Given the description of an element on the screen output the (x, y) to click on. 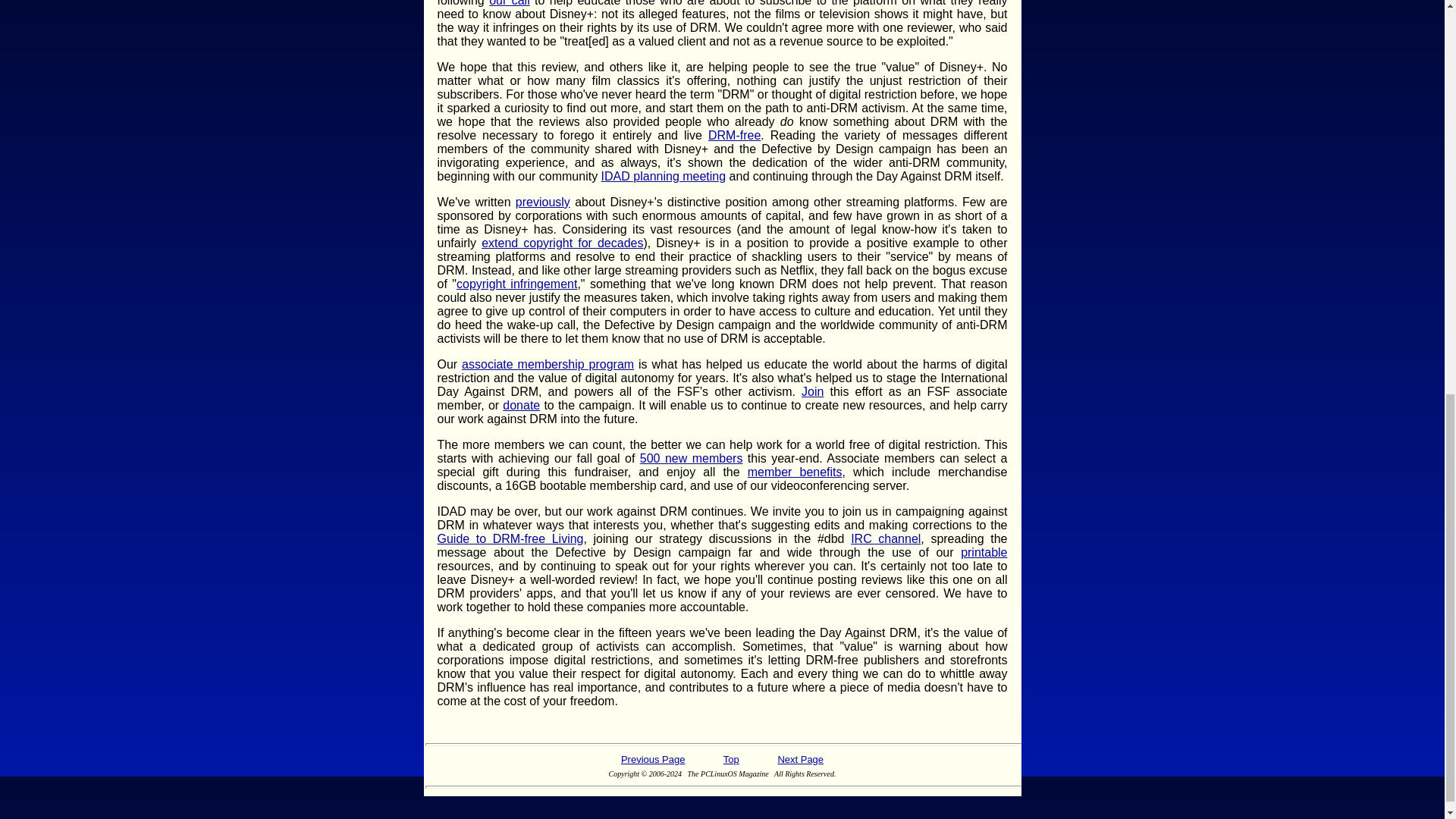
donate (521, 404)
our call (509, 3)
previously (542, 201)
copyright infringement (516, 283)
Guide to DRM-free Living (509, 538)
